Given the description of an element on the screen output the (x, y) to click on. 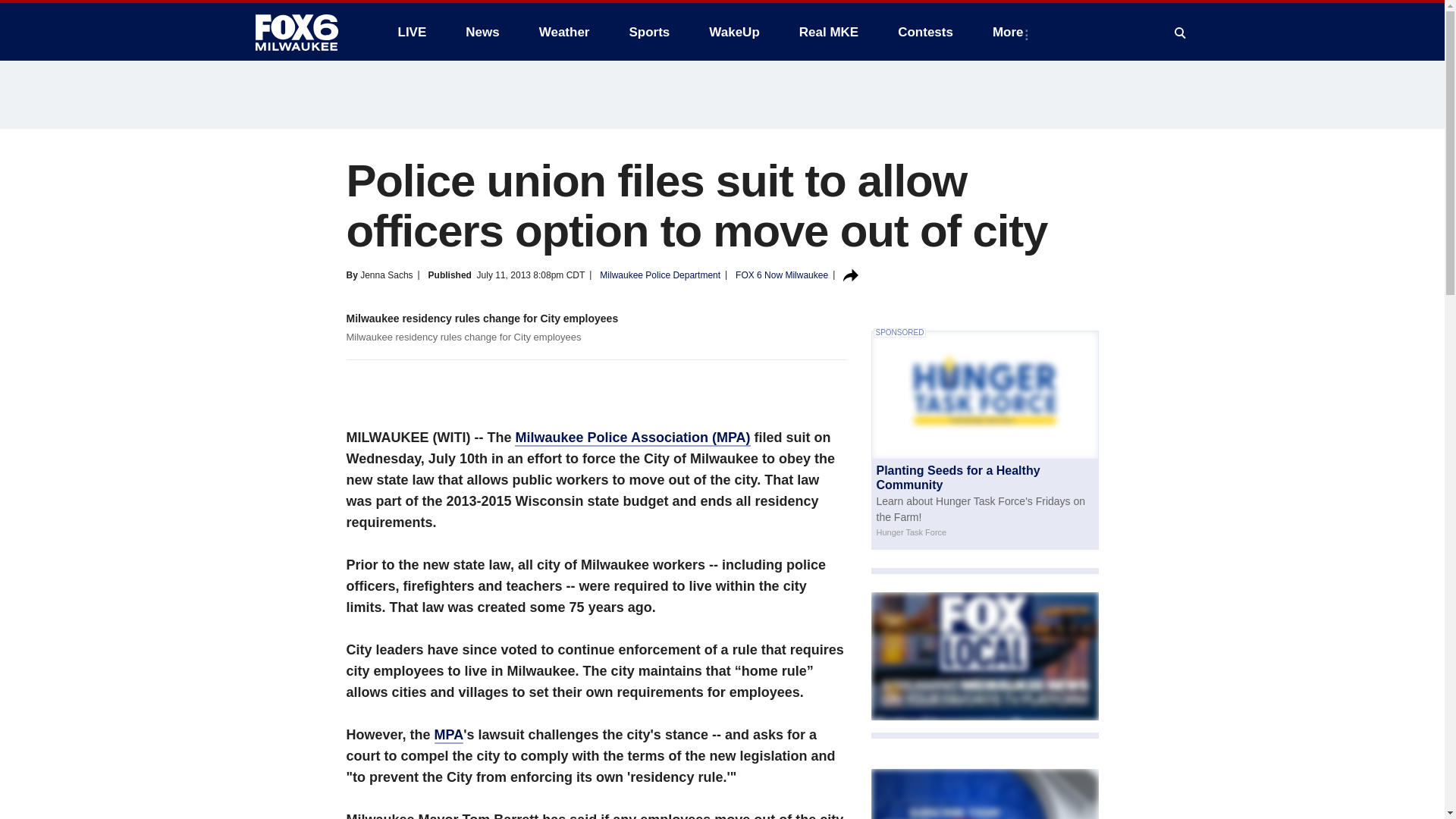
More (1010, 32)
News (481, 32)
Sports (648, 32)
Real MKE (828, 32)
Contests (925, 32)
Weather (564, 32)
LIVE (411, 32)
WakeUp (734, 32)
